Given the description of an element on the screen output the (x, y) to click on. 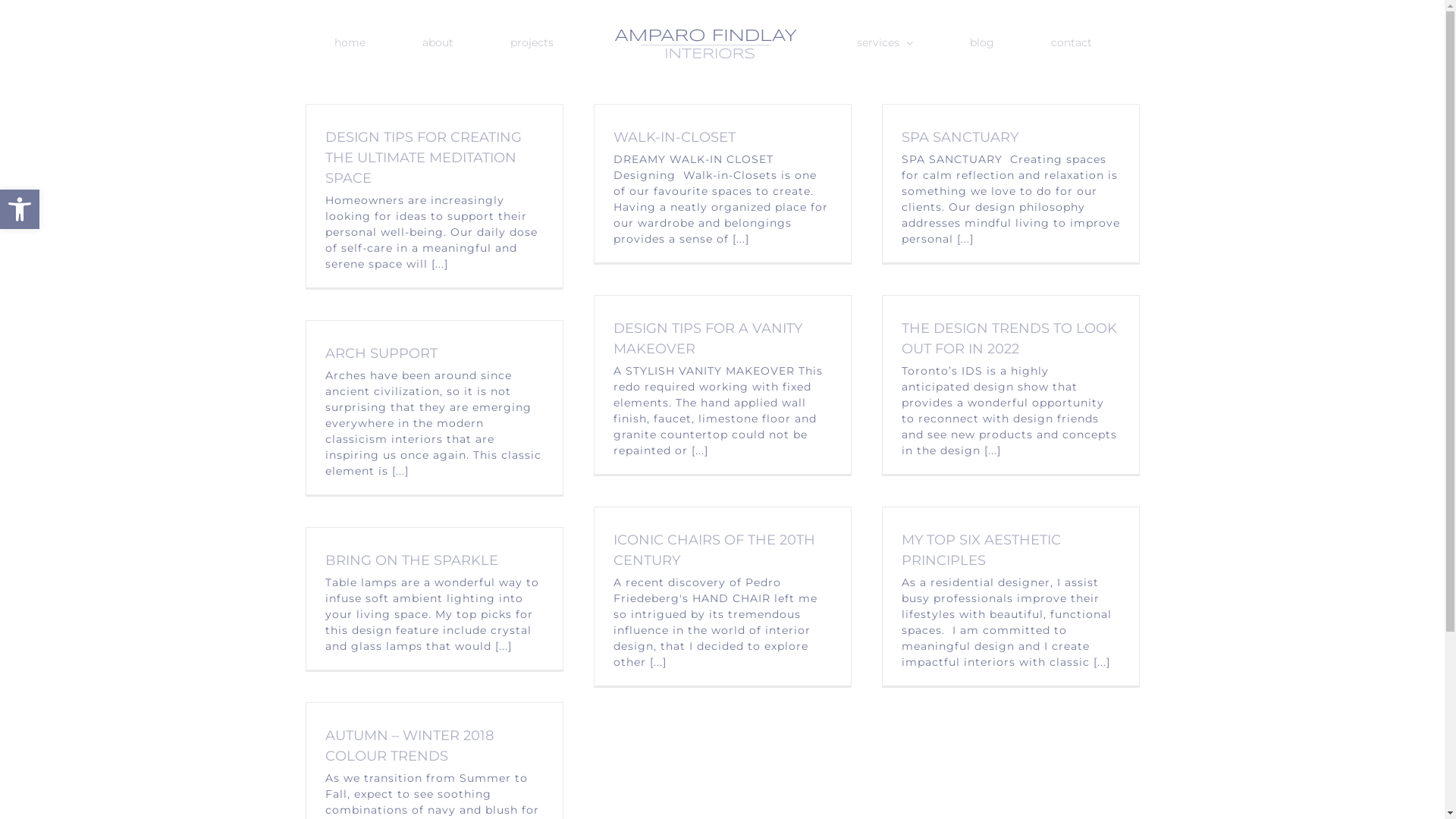
Open toolbar
Accessibility Tools Element type: text (19, 209)
DESIGN TIPS FOR A VANITY MAKEOVER Element type: text (706, 338)
BRING ON THE SPARKLE Element type: text (410, 560)
blog Element type: text (981, 42)
SPA SANCTUARY Element type: text (958, 136)
DESIGN TIPS FOR CREATING THE ULTIMATE MEDITATION SPACE Element type: text (422, 157)
contact Element type: text (1070, 42)
home Element type: text (349, 42)
projects Element type: text (531, 42)
MY TOP SIX AESTHETIC PRINCIPLES Element type: text (980, 549)
ICONIC CHAIRS OF THE 20TH CENTURY Element type: text (713, 549)
WALK-IN-CLOSET Element type: text (673, 136)
services Element type: text (884, 42)
THE DESIGN TRENDS TO LOOK OUT FOR IN 2022 Element type: text (1008, 338)
ARCH SUPPORT Element type: text (380, 353)
about Element type: text (437, 42)
